Given the description of an element on the screen output the (x, y) to click on. 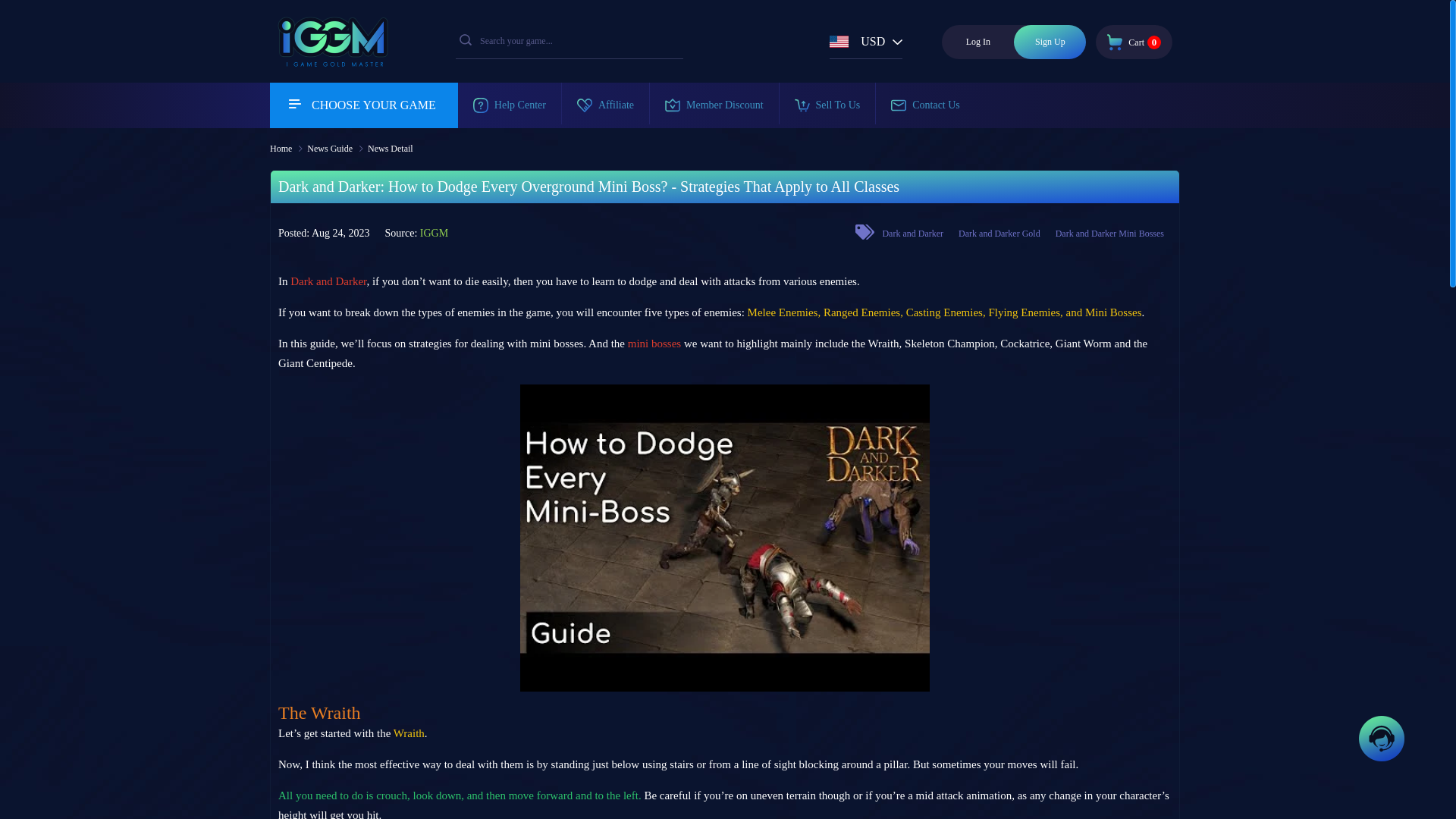
IGGM (328, 60)
Log In (977, 41)
Dark and Darker Gold (999, 233)
Dark and Darker Mini Bosses (1134, 41)
Sign Up (1110, 233)
Dark and Darker (1049, 41)
